Given the description of an element on the screen output the (x, y) to click on. 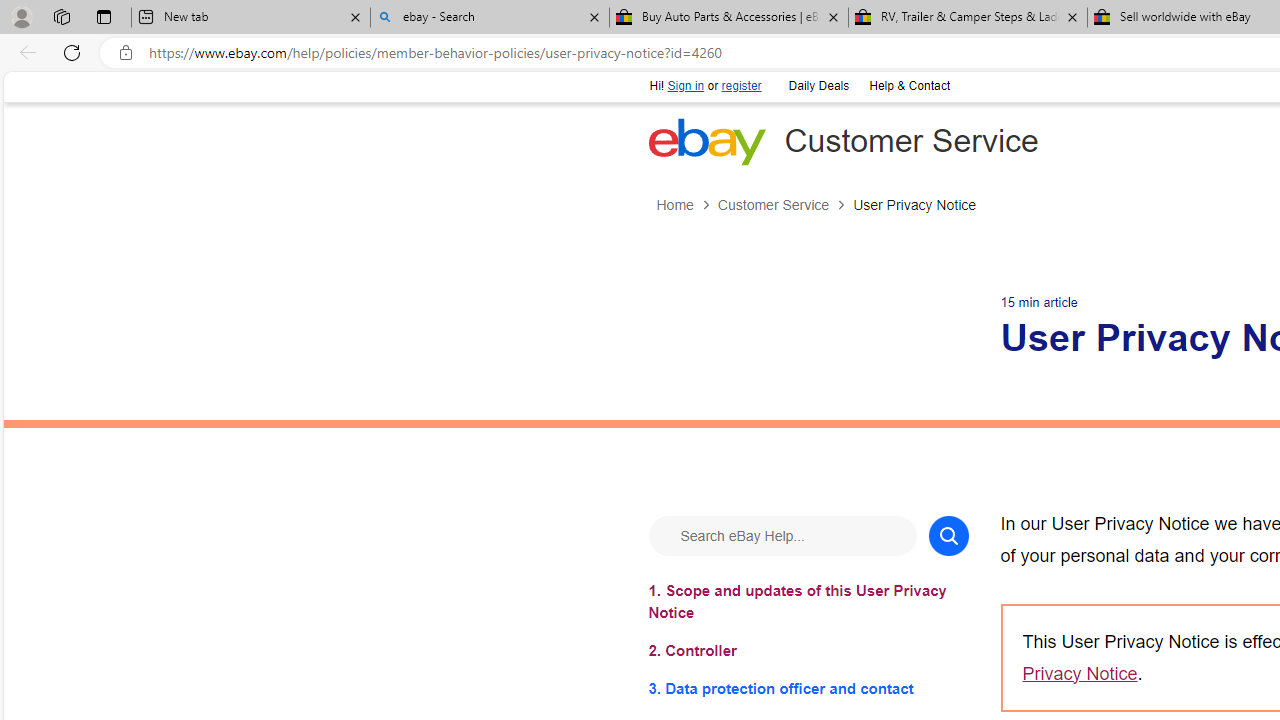
Home (686, 205)
1. Scope and updates of this User Privacy Notice (807, 601)
register (740, 85)
3. Data protection officer and contact (807, 687)
Customer Service (784, 205)
Sign in (685, 85)
Daily Deals (818, 86)
User Privacy Notice (914, 205)
2. Controller (807, 650)
ebay - Search (490, 17)
Help & Contact (909, 86)
